Given the description of an element on the screen output the (x, y) to click on. 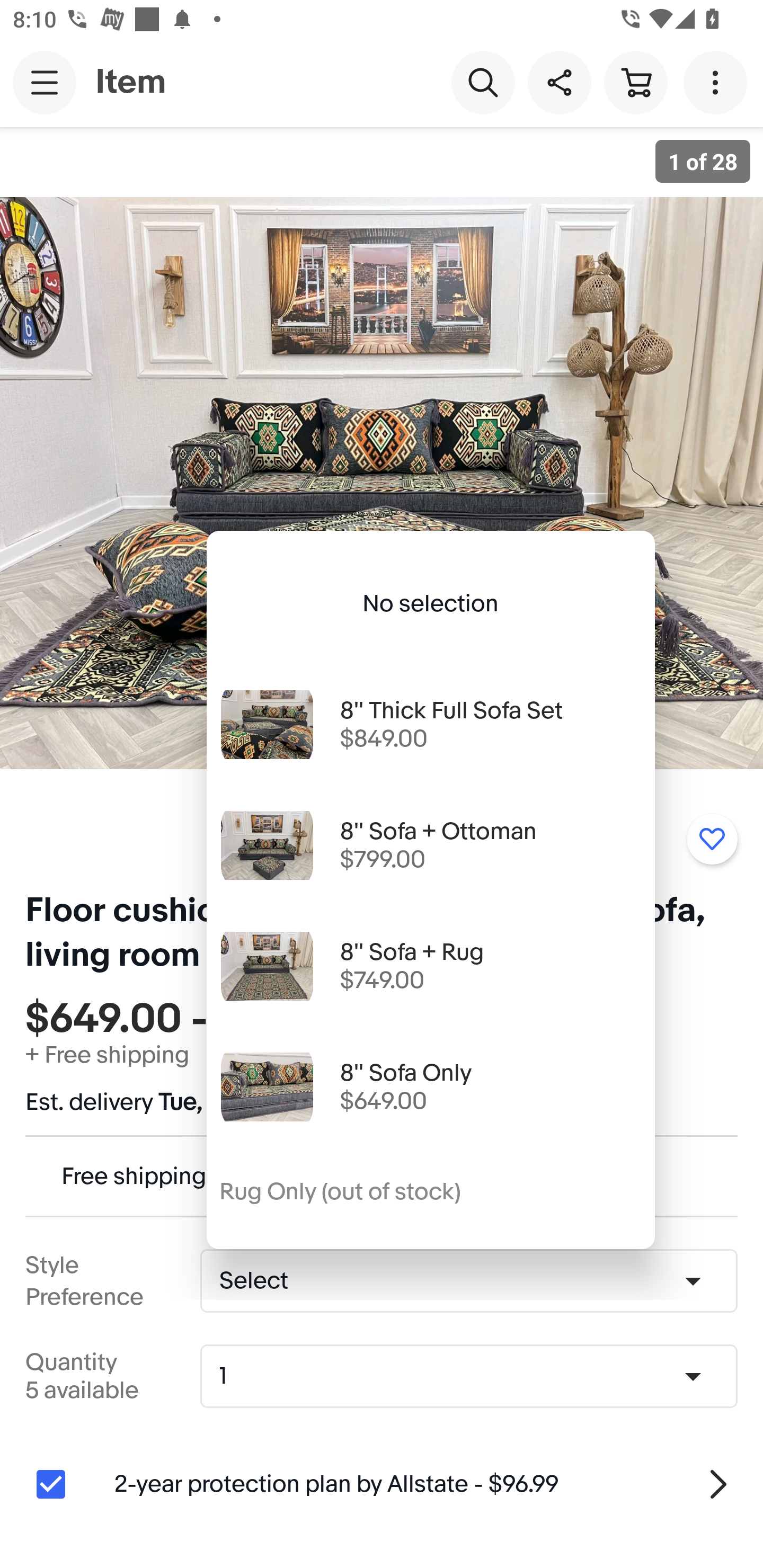
No selection (430, 604)
8'' Thick Full Sofa Set $849.00 $849.00 (430, 724)
8'' Sofa + Ottoman $799.00 $799.00 (430, 845)
8'' Sofa + Rug $749.00 $749.00 (430, 966)
8'' Sofa Only $649.00 $649.00 (430, 1087)
